Given the description of an element on the screen output the (x, y) to click on. 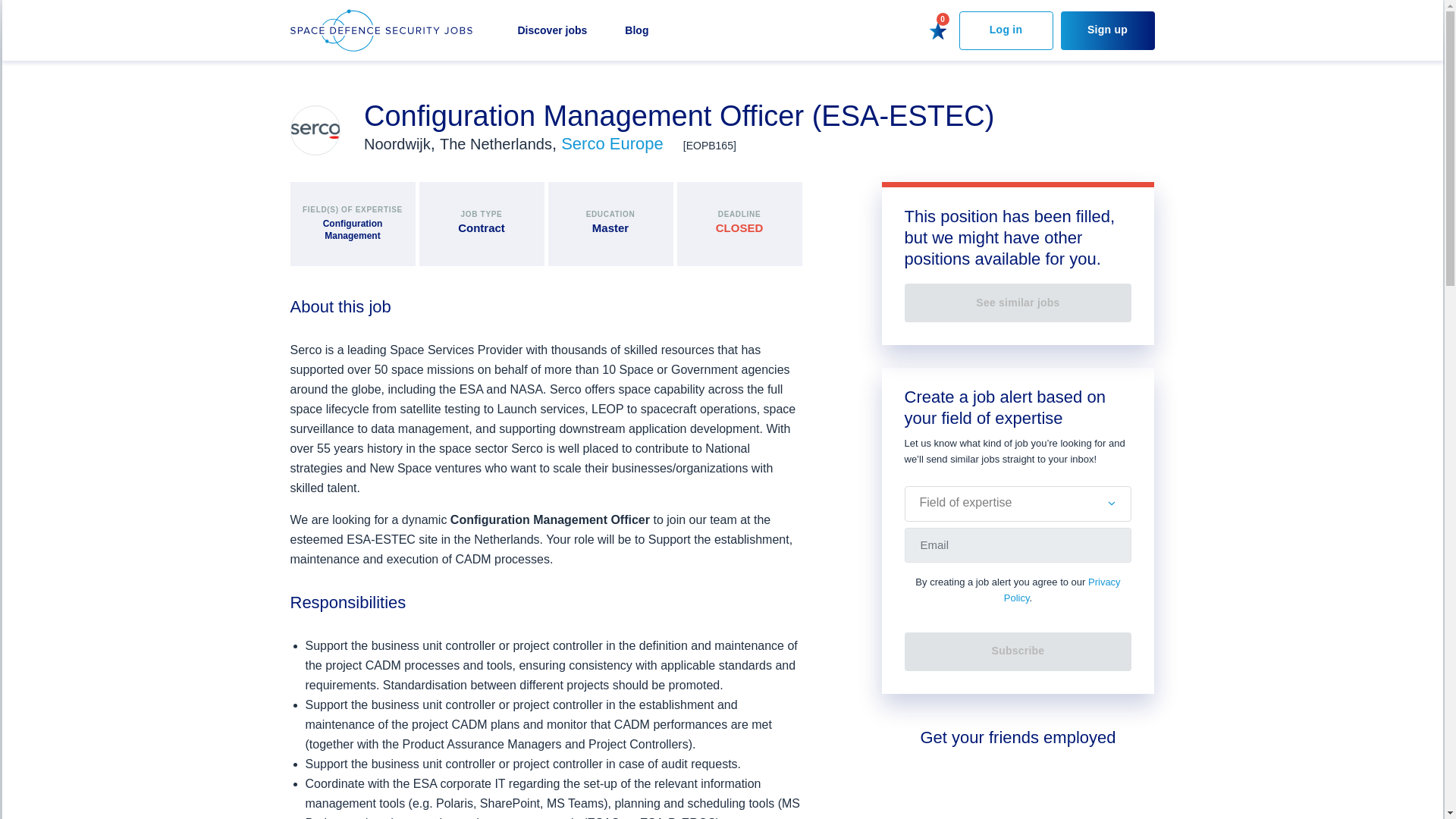
Sign up (1106, 29)
Discover jobs (551, 30)
Subscribe (1017, 651)
Log in (1005, 29)
Serco Europe (614, 143)
Privacy Policy (1062, 589)
See similar jobs (1017, 302)
